Given the description of an element on the screen output the (x, y) to click on. 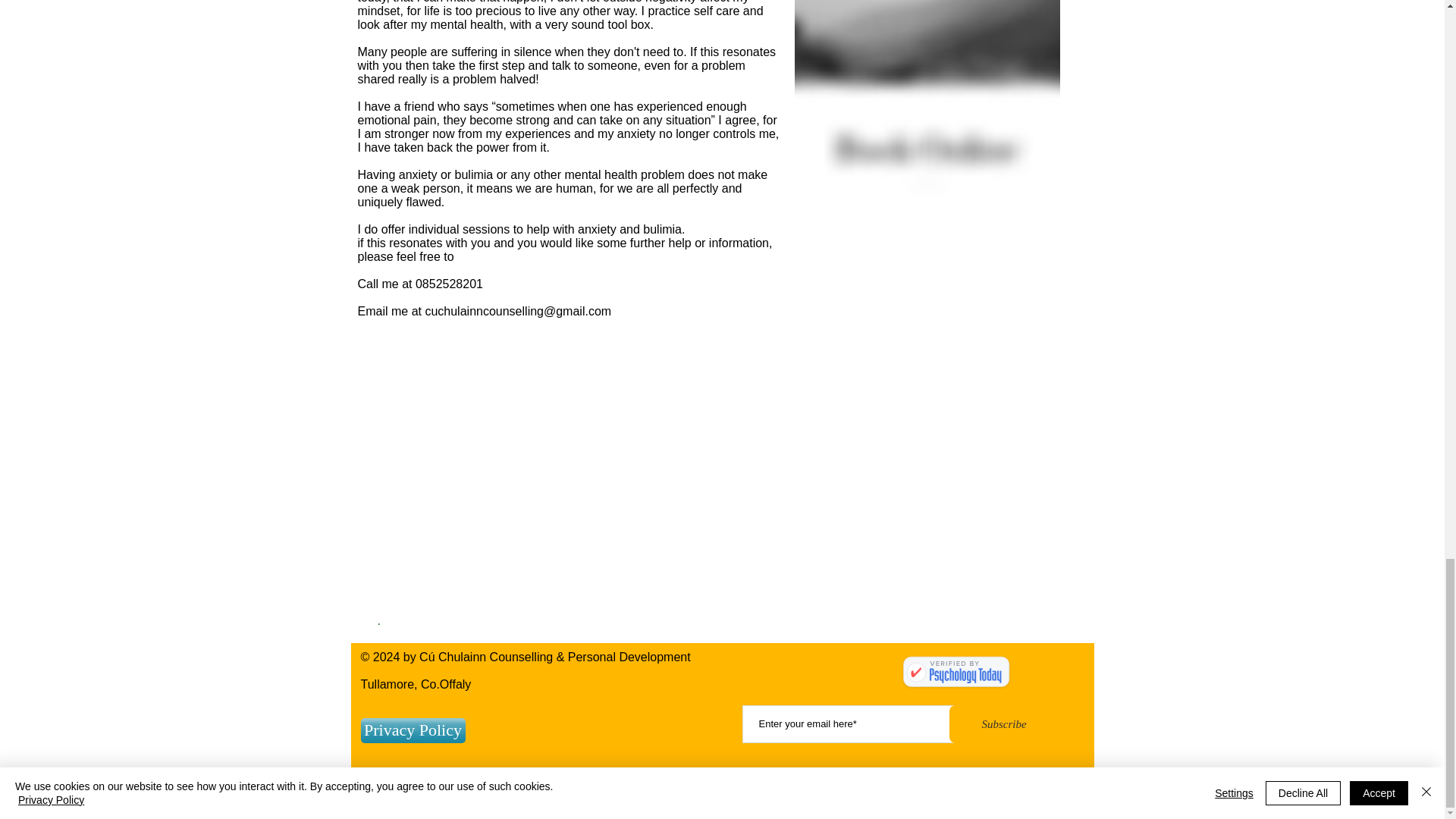
Subscribe (1004, 723)
Privacy Policy (413, 730)
Tullamore, Co.Offaly (416, 684)
Embedded Content (954, 675)
Cookie Alert (410, 756)
